Given the description of an element on the screen output the (x, y) to click on. 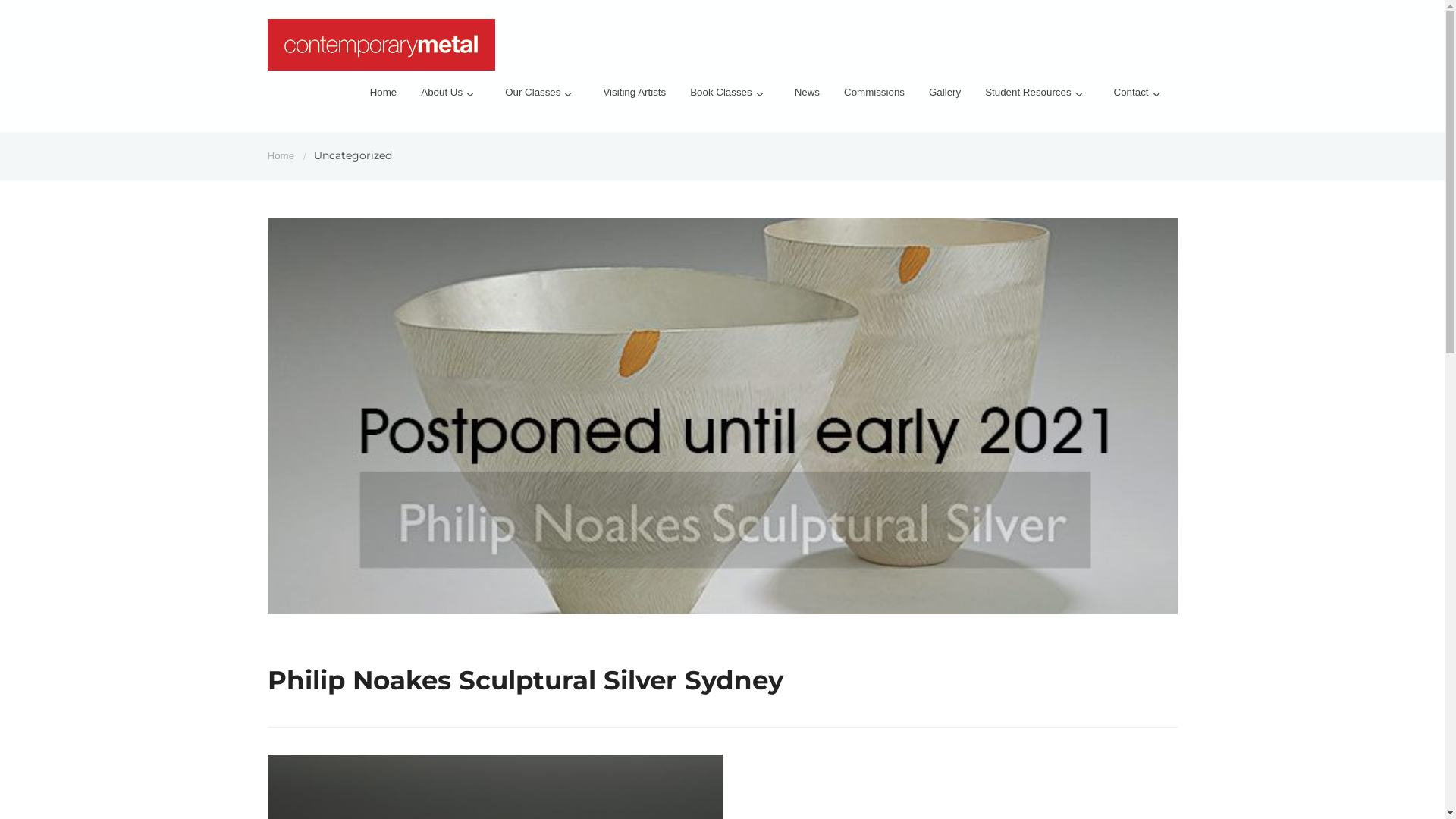
Our Classes Element type: text (541, 99)
Commissions Element type: text (874, 97)
Visiting Artists Element type: text (634, 97)
Philip Noakes Sculptural Silver Sydney <p></p> Element type: hover (721, 414)
Gallery Element type: text (944, 97)
Book Classes Element type: text (730, 99)
News Element type: text (807, 97)
Home Element type: text (383, 97)
Student Resources Element type: text (1036, 99)
About Us Element type: text (450, 99)
Contact Element type: text (1140, 99)
Jewellery School in Perth, Western Australia Element type: hover (380, 48)
Home Element type: text (280, 155)
